Given the description of an element on the screen output the (x, y) to click on. 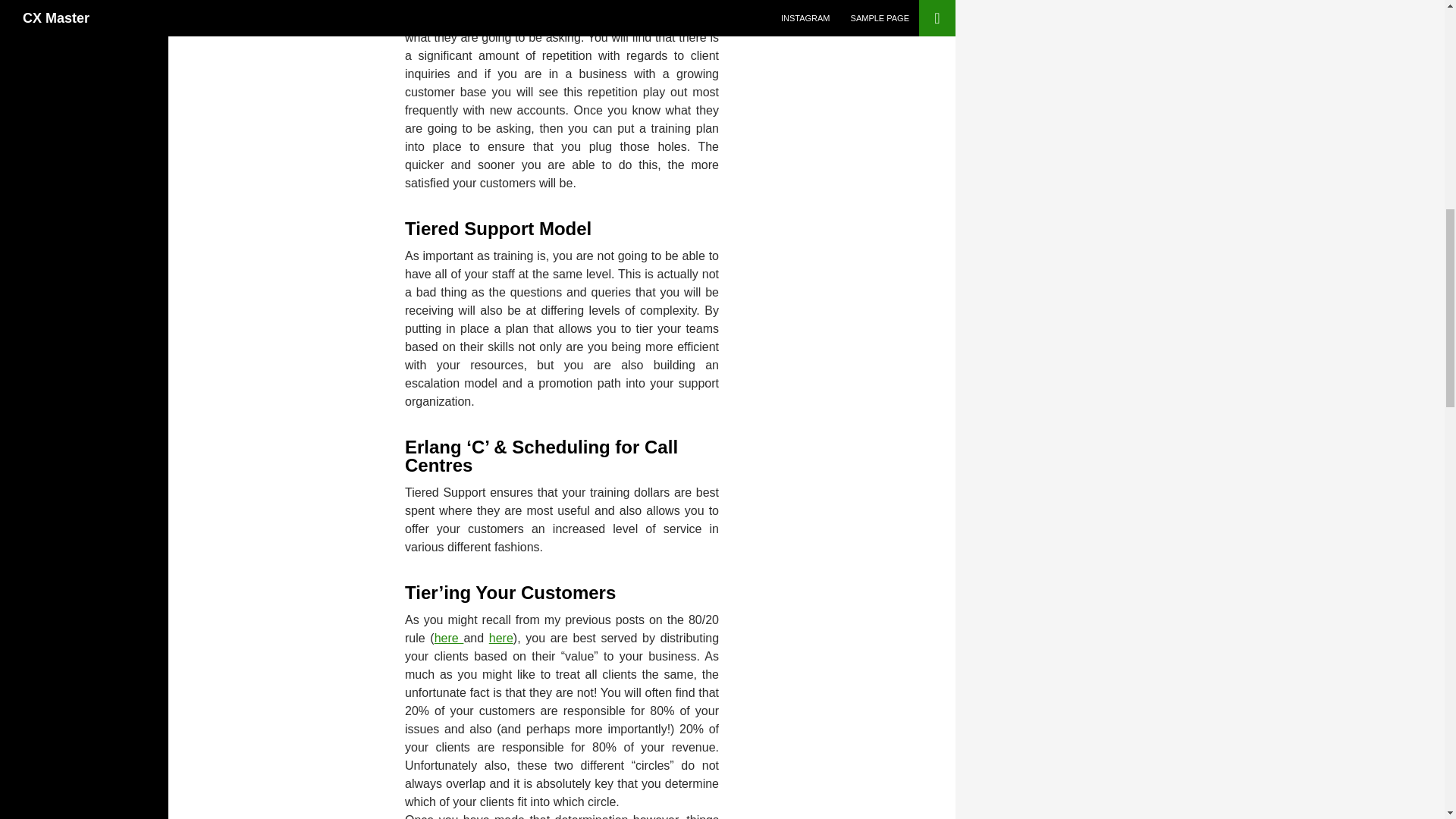
here (448, 637)
here (501, 637)
